Given the description of an element on the screen output the (x, y) to click on. 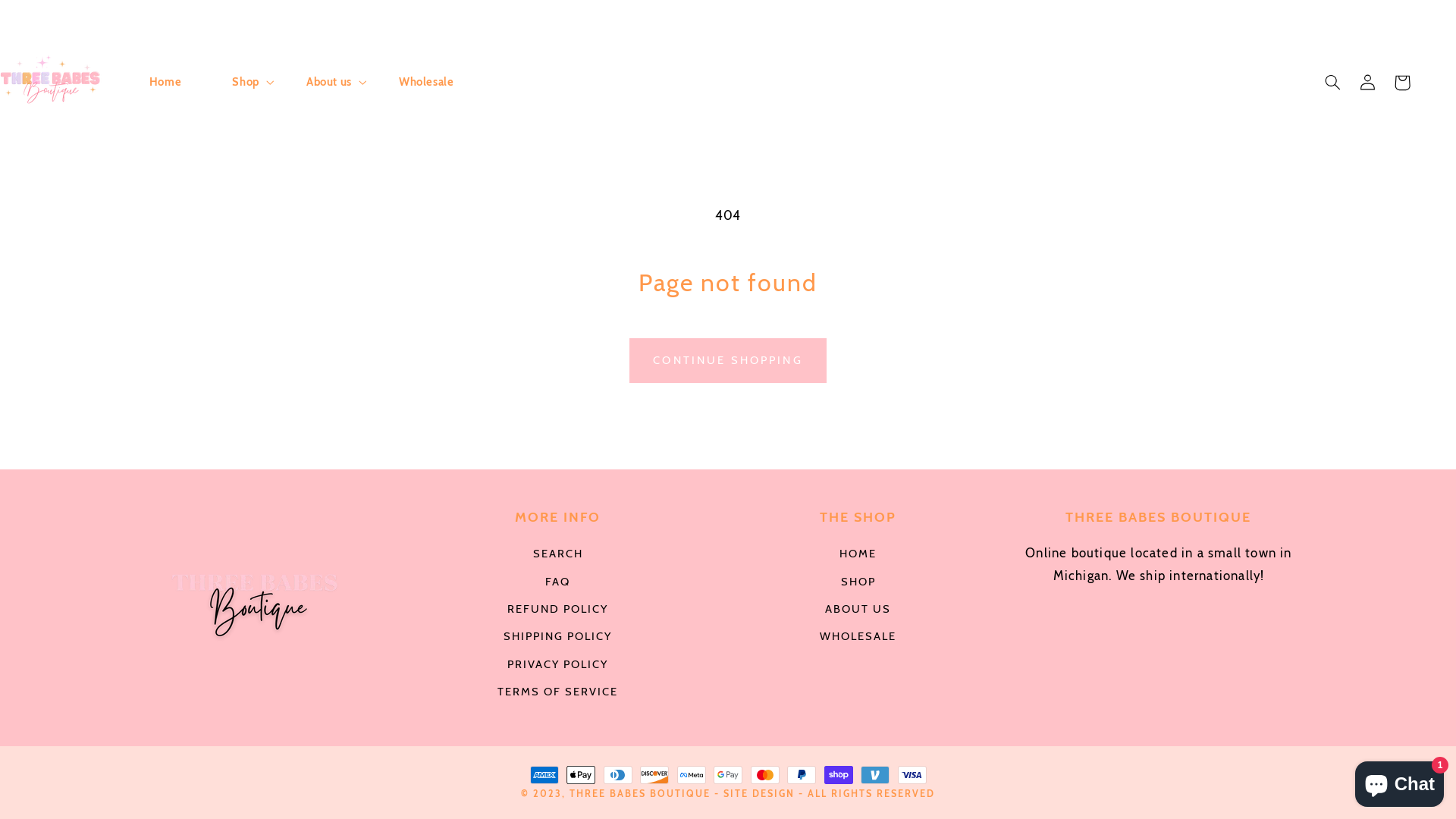
CONTINUE SHOPPING Element type: text (728, 360)
REFUND POLICY Element type: text (557, 609)
Wholesale Element type: text (426, 82)
Home Element type: text (165, 82)
ABOUT US Element type: text (858, 609)
PRIVACY POLICY Element type: text (557, 663)
TERMS OF SERVICE Element type: text (557, 692)
HOME Element type: text (857, 555)
FAQ Element type: text (557, 581)
SHOP Element type: text (857, 581)
SEARCH Element type: text (558, 555)
SITE DESIGN Element type: text (758, 793)
Shopify online store chat Element type: hover (1399, 780)
Cart Element type: text (1401, 82)
SHIPPING POLICY Element type: text (557, 636)
Log in Element type: text (1366, 82)
WHOLESALE Element type: text (857, 636)
THREE BABES BOUTIQUE Element type: text (639, 793)
